Given the description of an element on the screen output the (x, y) to click on. 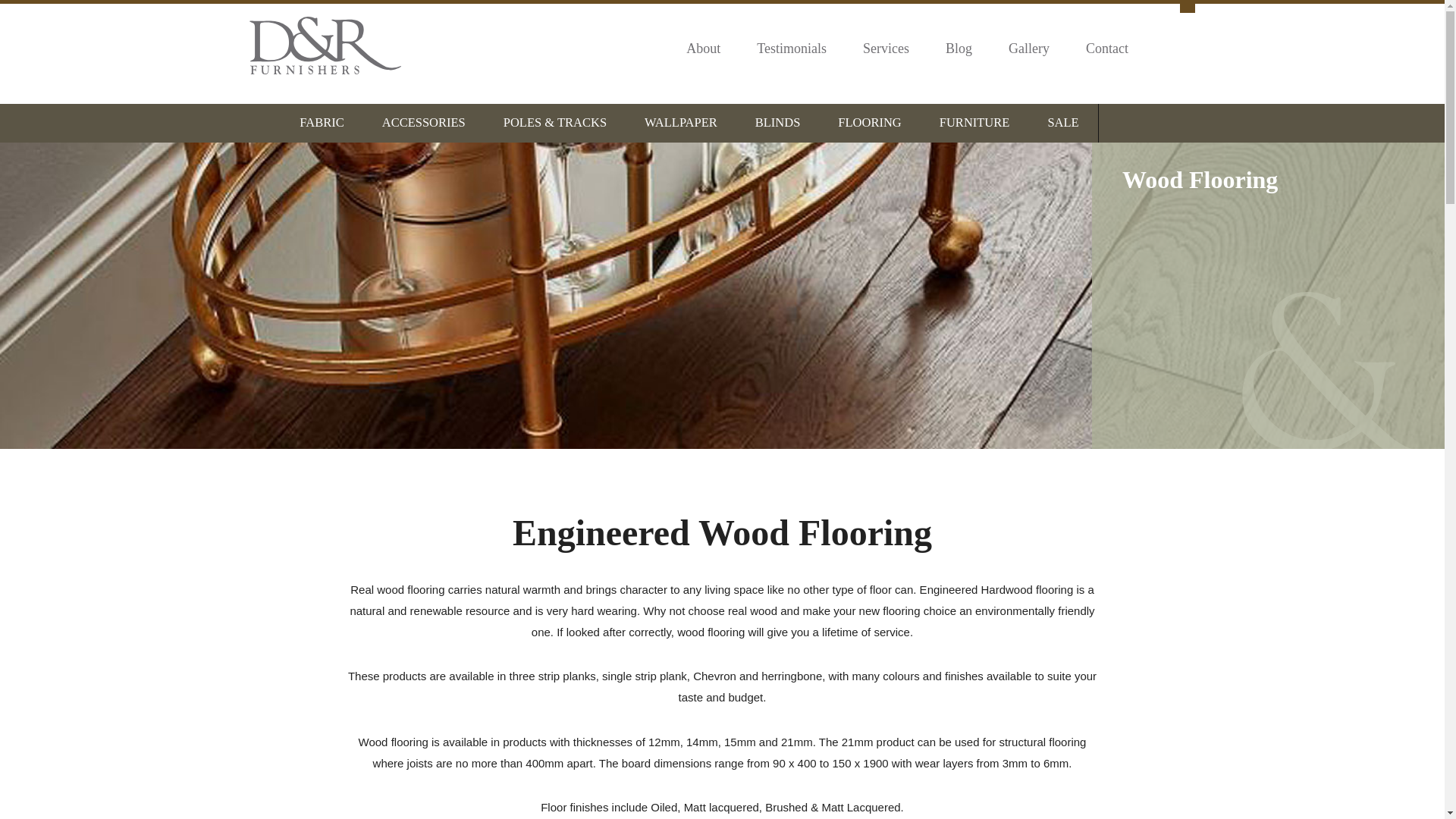
FABRIC (321, 123)
Blog (958, 48)
Contact (1107, 48)
SALE (1062, 123)
About (702, 48)
FURNITURE (974, 123)
Testimonials (792, 48)
Gallery (1029, 48)
BLINDS (777, 123)
FLOORING (869, 123)
